Given the description of an element on the screen output the (x, y) to click on. 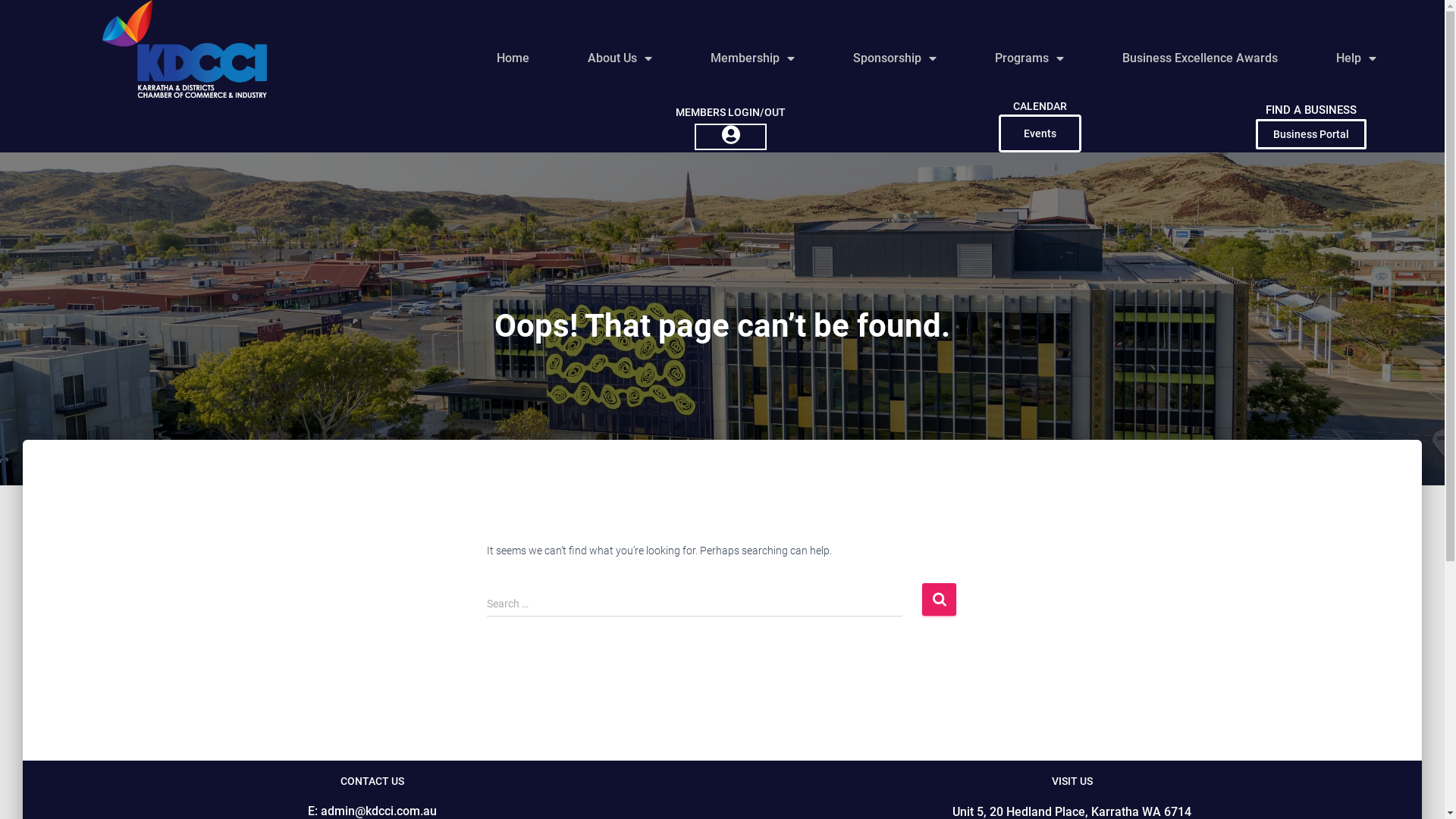
Programs Element type: text (1029, 58)
Home Element type: text (513, 58)
Search Element type: text (939, 599)
Business Portal Element type: text (1310, 134)
E: admin@kdcci.com.au Element type: text (371, 810)
About Us Element type: text (620, 58)
Events Element type: text (1039, 133)
Help Element type: text (1355, 58)
Membership Element type: text (752, 58)
Business Excellence Awards Element type: text (1199, 58)
Sponsorship Element type: text (894, 58)
